Given the description of an element on the screen output the (x, y) to click on. 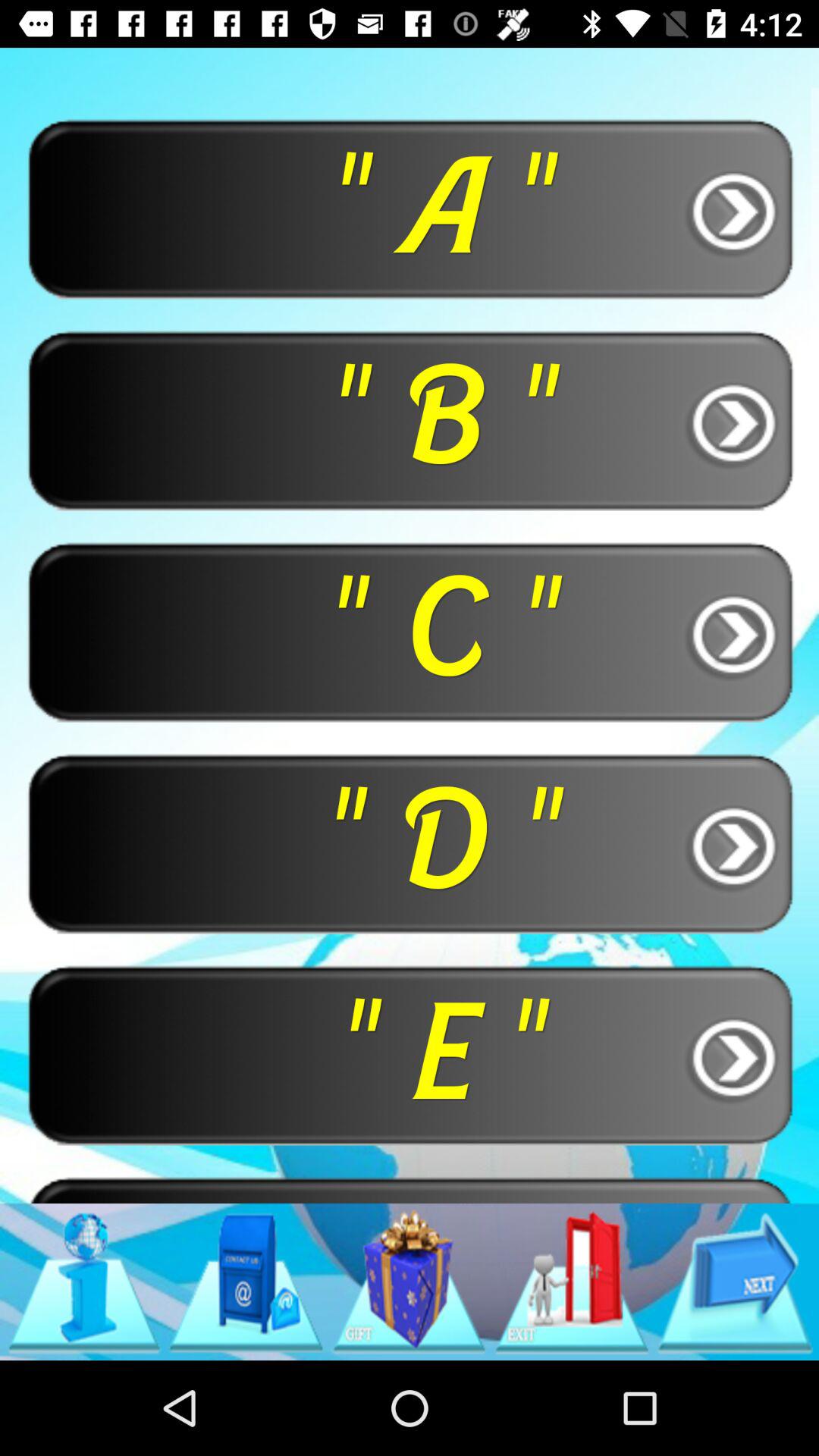
move forward (734, 1281)
